Given the description of an element on the screen output the (x, y) to click on. 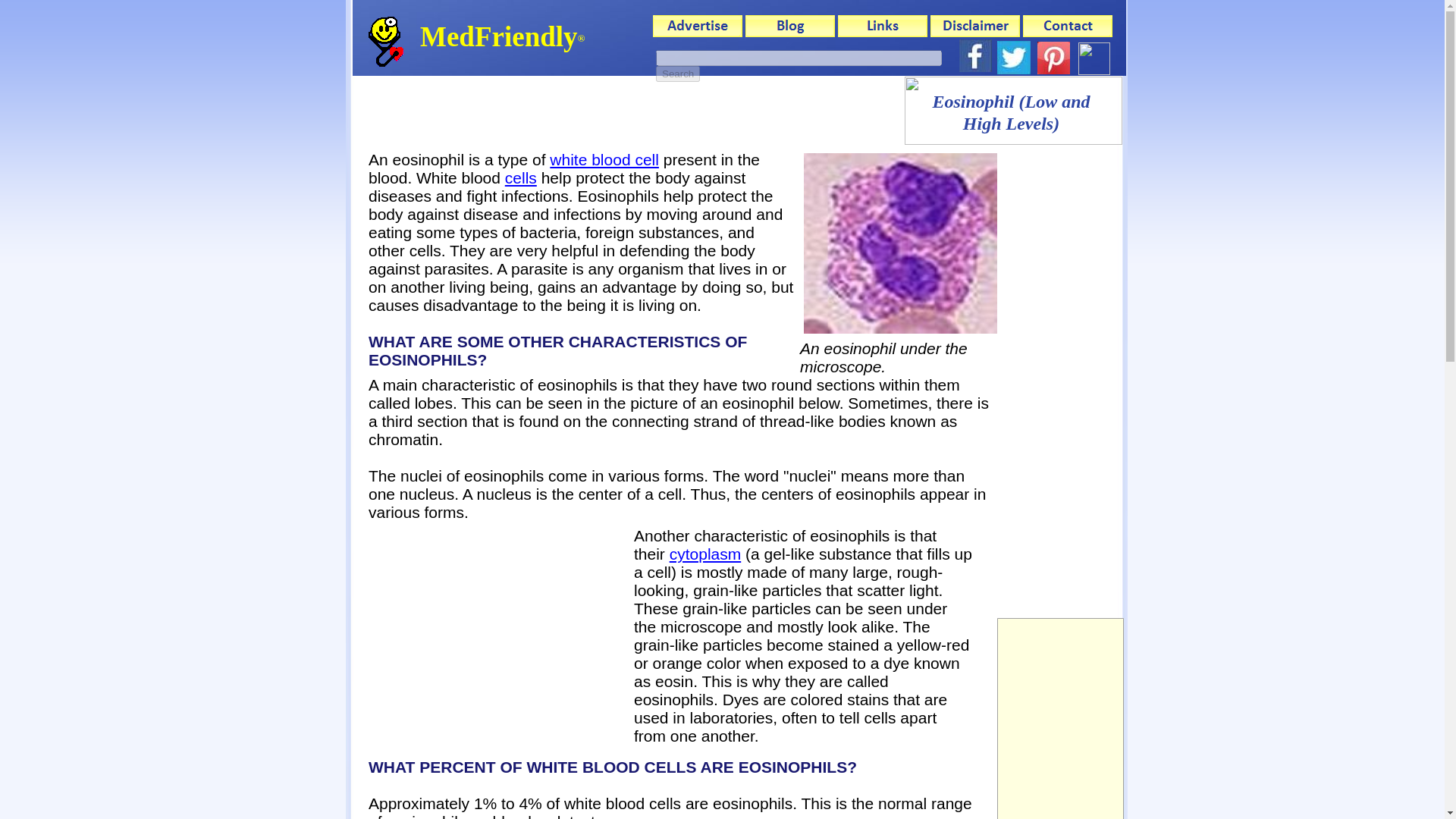
cytoplasm (705, 553)
white blood cell (604, 159)
Search (678, 73)
cells (521, 177)
Search (678, 73)
